Given the description of an element on the screen output the (x, y) to click on. 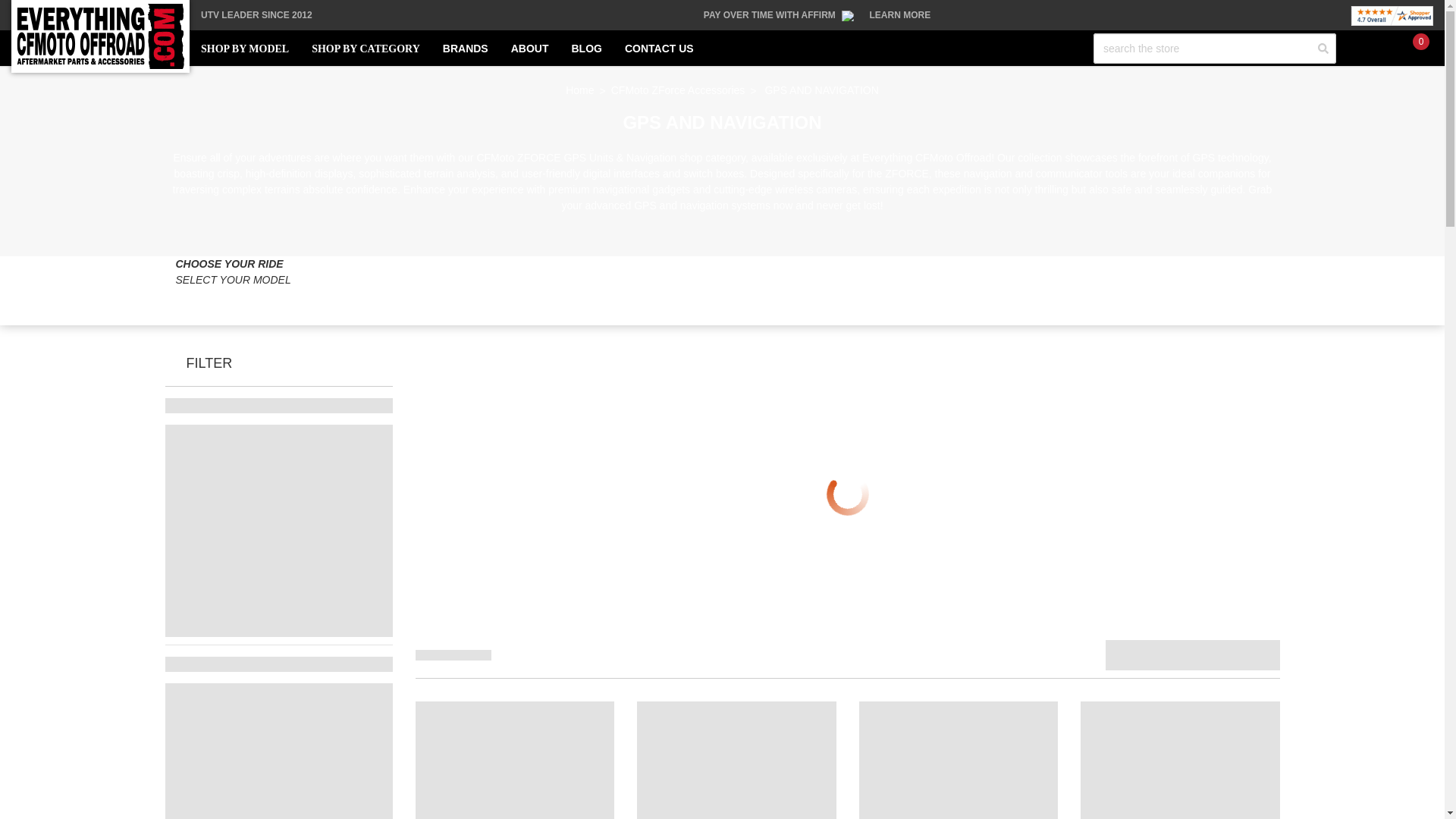
SHOP BY CATEGORY (365, 48)
UTV LEADER SINCE 2012 (256, 14)
Everything CFMOTO Offroad (100, 36)
LEARN MORE (900, 14)
SHOP BY MODEL (244, 48)
